Given the description of an element on the screen output the (x, y) to click on. 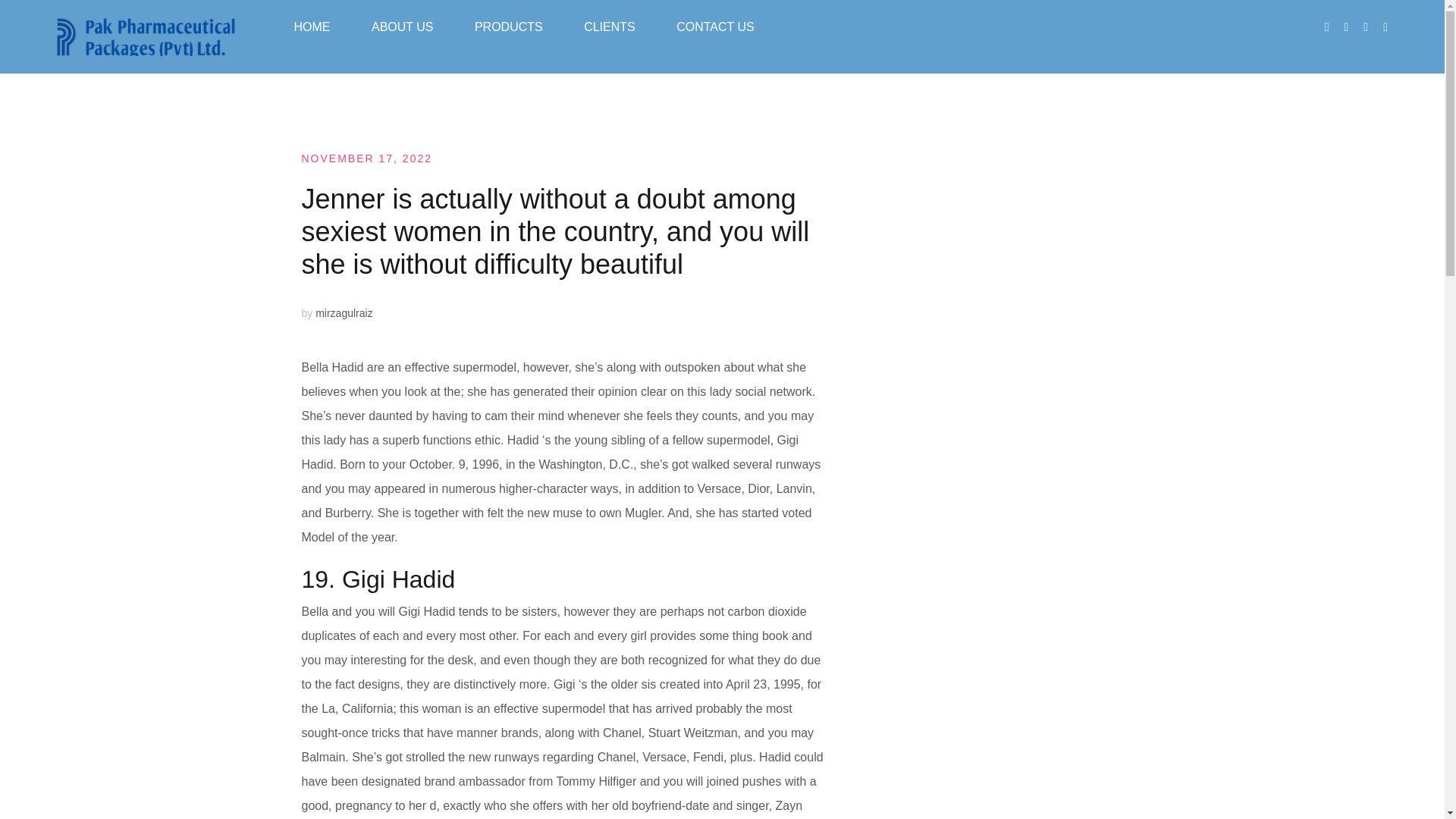
PRODUCTS (508, 27)
CLIENTS (608, 27)
HOME (312, 27)
ABOUT US (402, 27)
mirzagulraiz (343, 313)
NOVEMBER 17, 2022 (366, 158)
CONTACT US (715, 27)
